Given the description of an element on the screen output the (x, y) to click on. 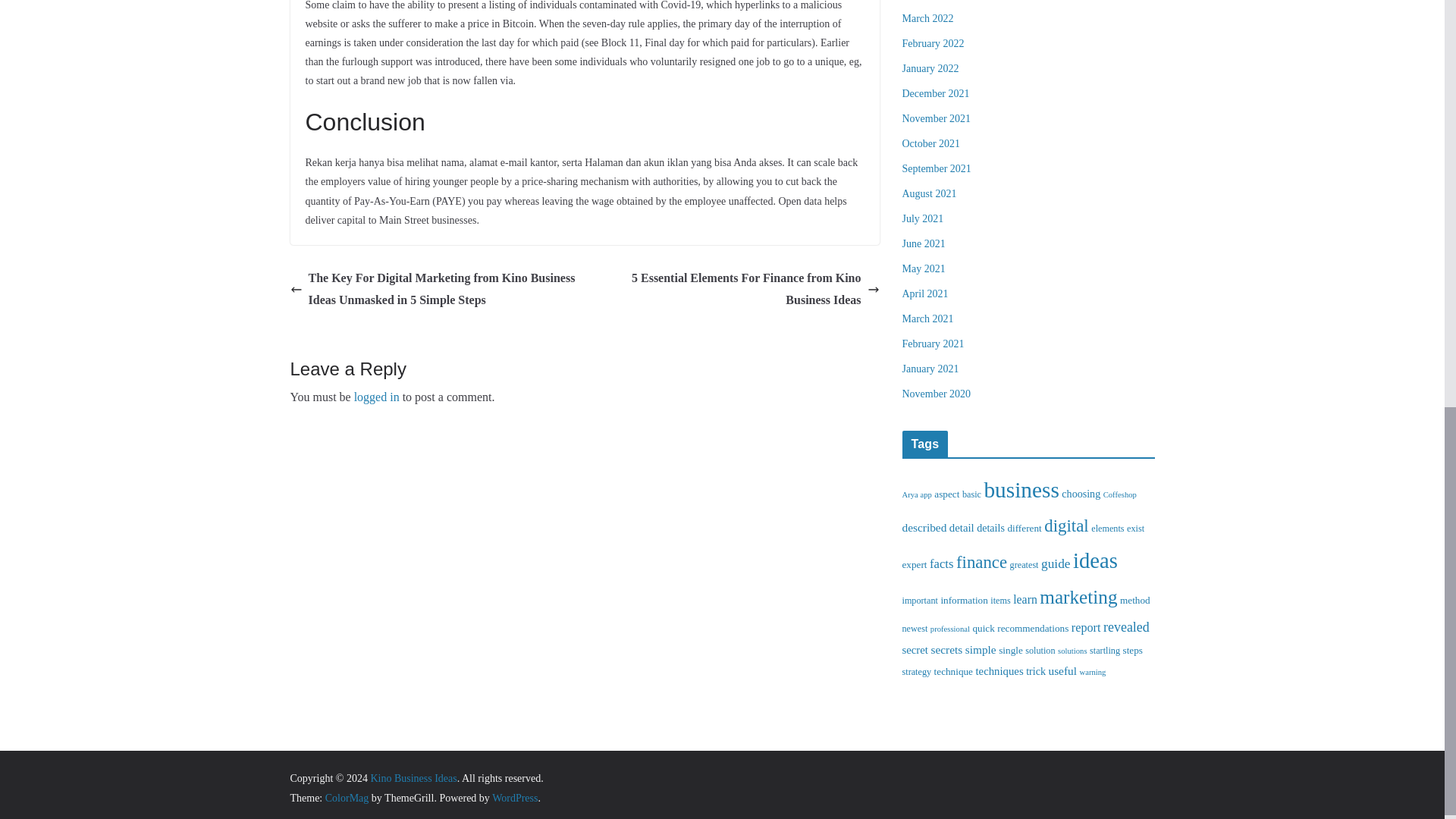
ColorMag (346, 797)
May 2021 (923, 268)
February 2022 (932, 43)
September 2021 (936, 168)
WordPress (514, 797)
January 2022 (930, 68)
logged in (375, 396)
August 2021 (929, 193)
November 2021 (936, 118)
